Given the description of an element on the screen output the (x, y) to click on. 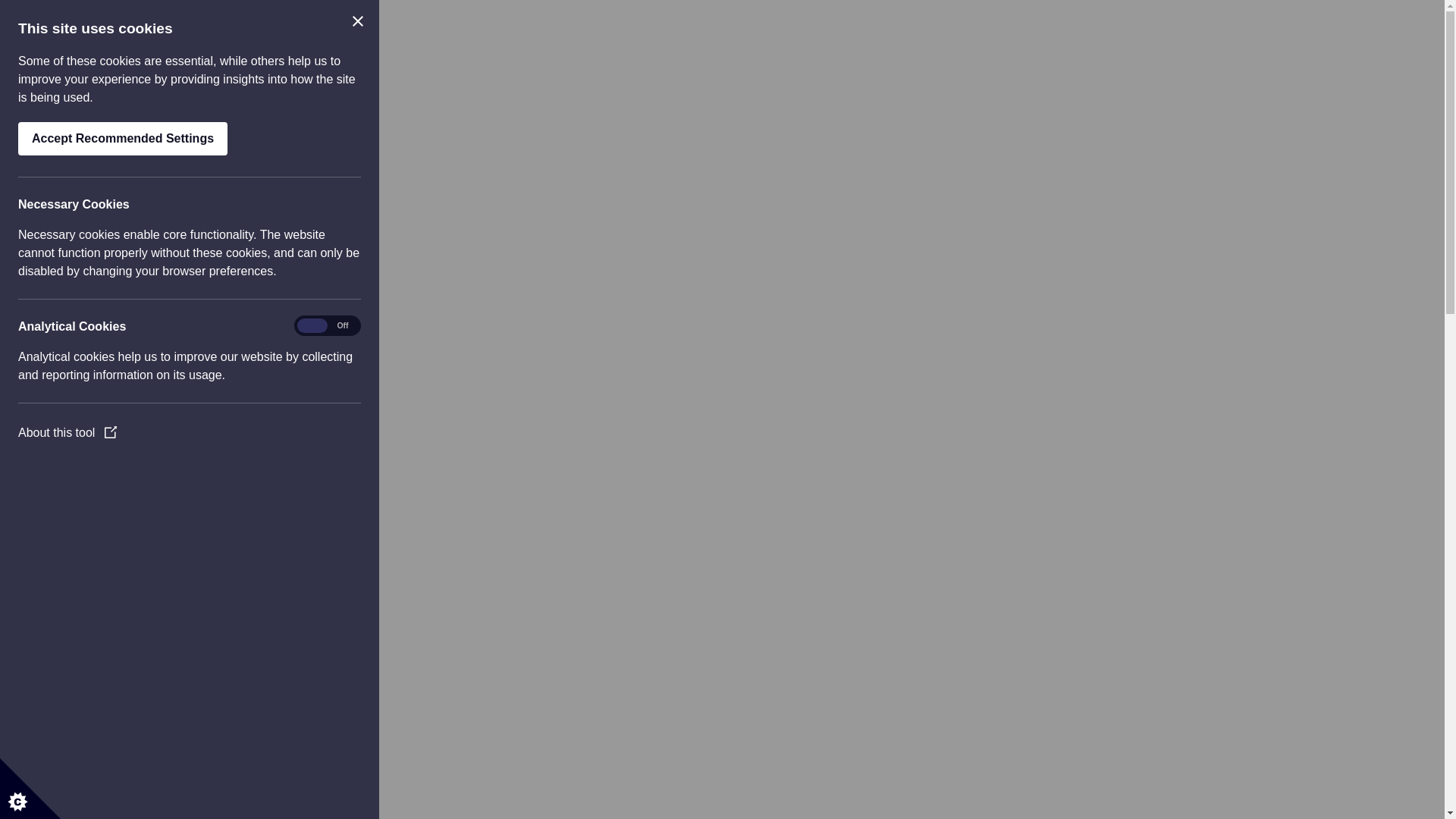
Cookie Control Icon (30, 788)
